Given the description of an element on the screen output the (x, y) to click on. 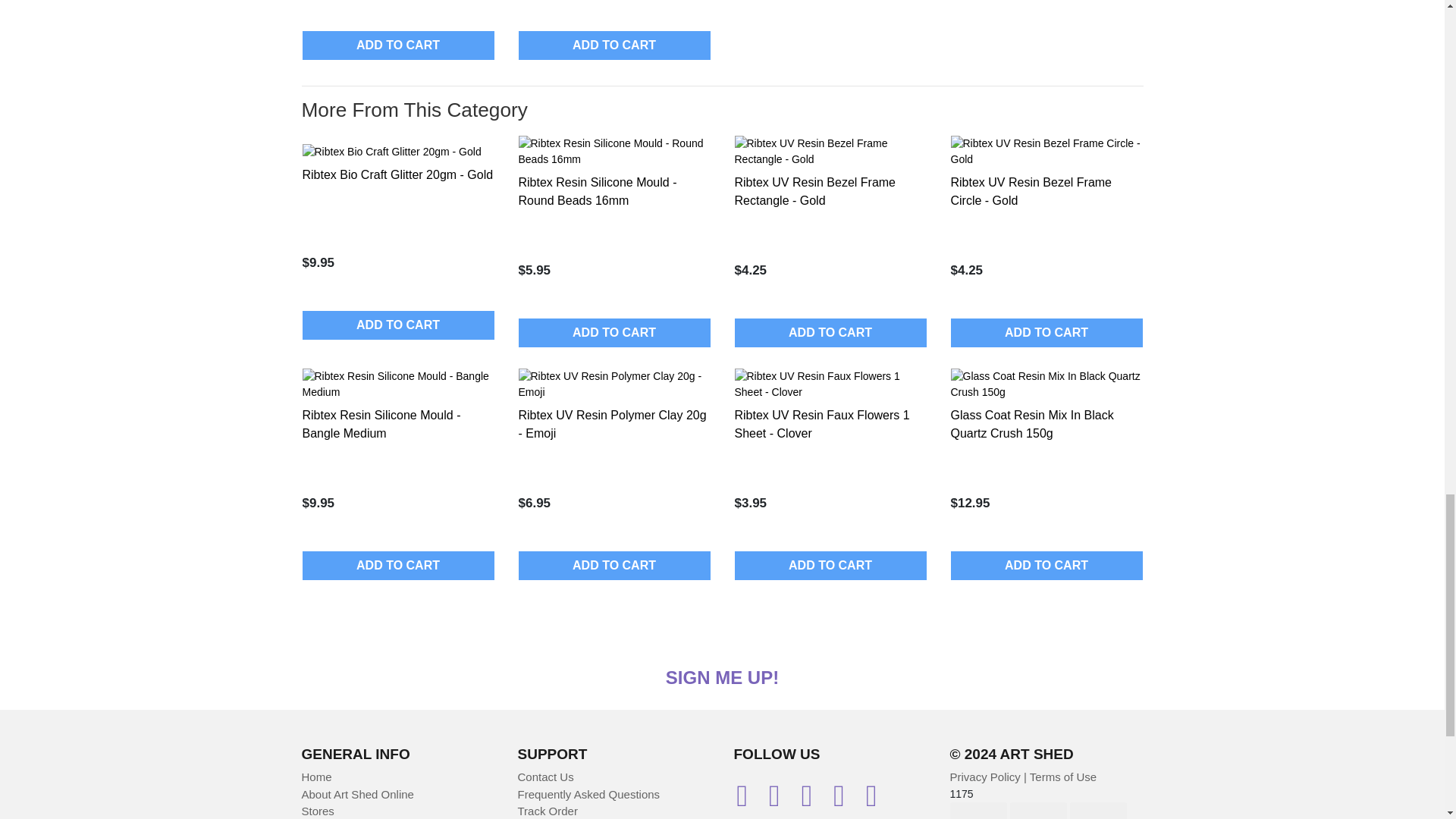
Email us (749, 800)
Add Ribtex Resin Silicone Mould - Bangle Medium to Cart (397, 565)
Add Ribtex UV Resin Faux Flowers 1 Sheet - Clover to Cart (829, 565)
Add Glass Coat Resin Mix In Black Quartz Crush 150g to Cart (1046, 565)
Add Ribtex UV Resin Polymer Clay 20g - Emoji to Cart (614, 565)
Add Ribtex Bio Craft Glitter 20gm - Gold to Cart (397, 325)
Add Ribtex UV Resin Bezel Frame Rectangle - Gold to Cart (829, 332)
Add Crystal Clear 2 Part Resin Kit - 2L to Cart (614, 45)
Add Ribtex UV Resin Bezel Frame Circle - Gold to Cart (1046, 332)
Add Gedeo Latex 250ml to Cart (397, 45)
